Given the description of an element on the screen output the (x, y) to click on. 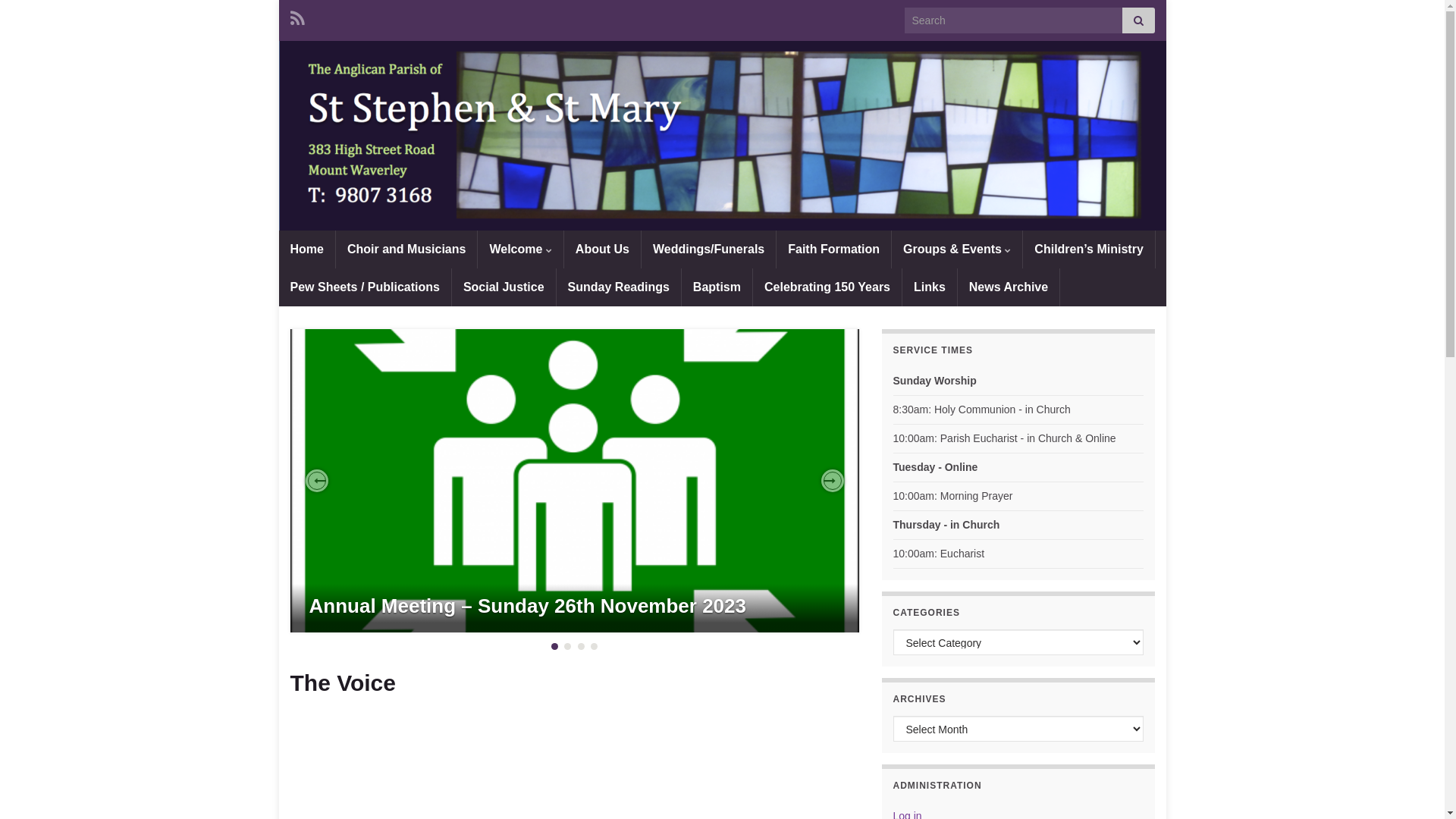
Anglican Parish of St Stephen and St Mary Element type: hover (722, 135)
About Us Element type: text (602, 249)
News Archive Element type: text (1008, 287)
Baptism Element type: text (716, 287)
Welcome Element type: text (519, 249)
Celebrating 150 Years Element type: text (827, 287)
Weddings/Funerals Element type: text (708, 249)
Previous Element type: text (315, 480)
Next Element type: text (831, 480)
Faith Formation Element type: text (833, 249)
View post Element type: hover (573, 480)
Links Element type: text (929, 287)
Groups & Events Element type: text (956, 249)
Home Element type: text (307, 249)
Sunday Readings Element type: text (618, 287)
Social Justice Element type: text (503, 287)
Pew Sheets / Publications Element type: text (365, 287)
Choir and Musicians Element type: text (405, 249)
